Given the description of an element on the screen output the (x, y) to click on. 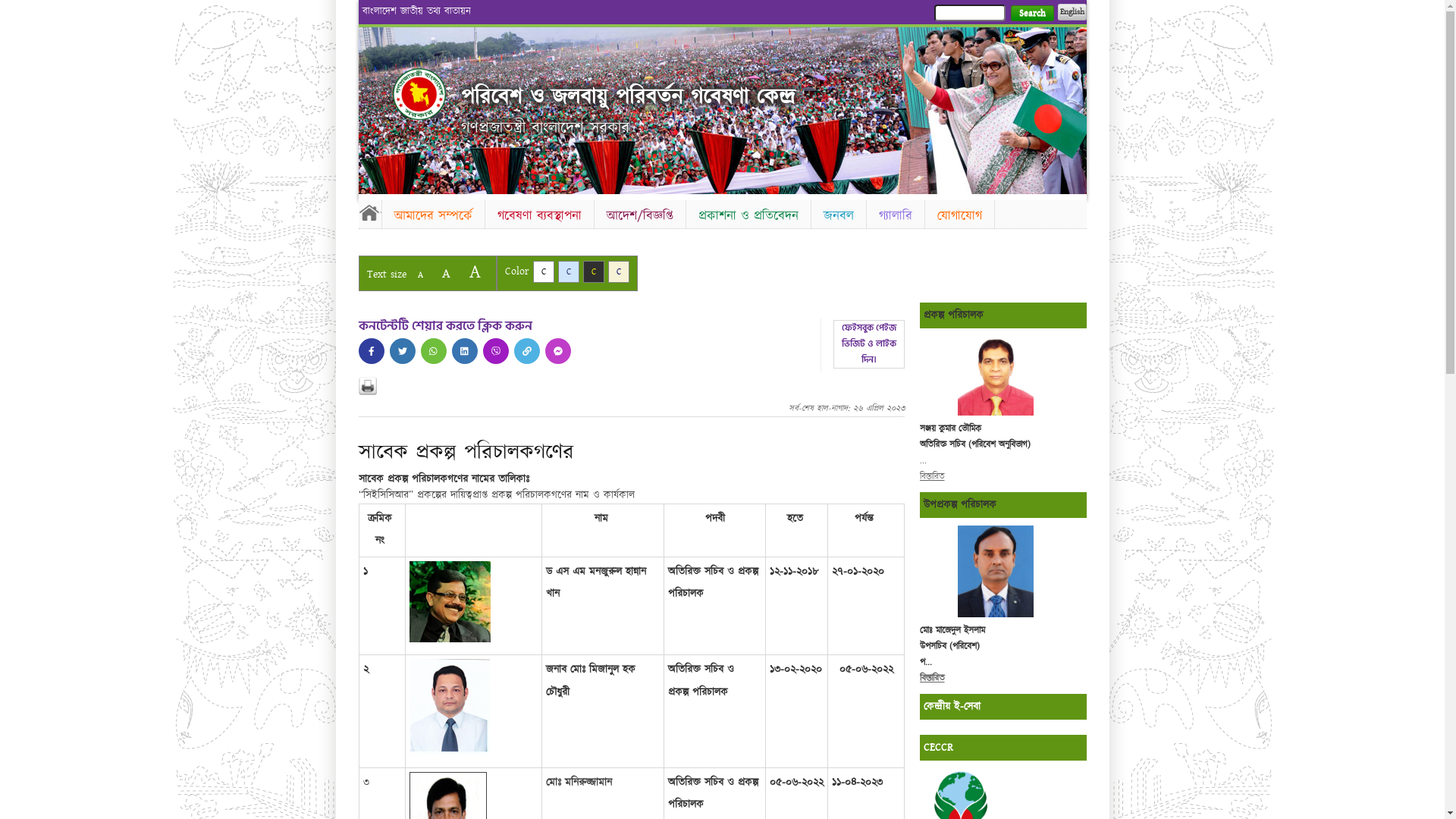
C Element type: text (568, 271)
C Element type: text (542, 271)
Home Element type: hover (418, 93)
Search Element type: text (1031, 13)
A Element type: text (445, 273)
C Element type: text (618, 271)
A Element type: text (419, 274)
C Element type: text (592, 271)
A Element type: text (474, 271)
English Element type: text (1071, 11)
Home Element type: hover (368, 211)
